Given the description of an element on the screen output the (x, y) to click on. 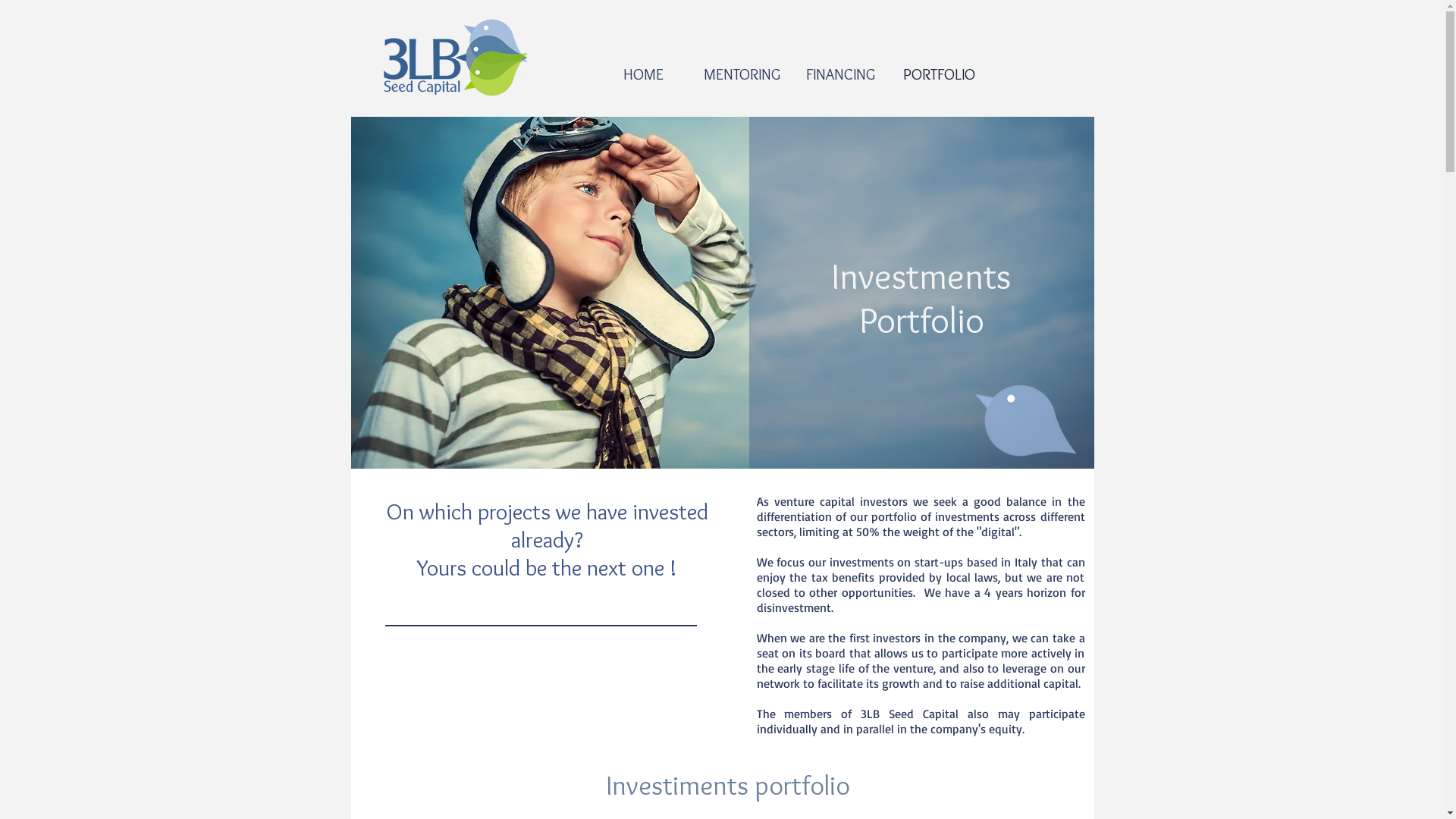
MENTORING Element type: text (742, 74)
Pilot007.jpg Element type: hover (721, 292)
FINANCING Element type: text (840, 74)
HOME Element type: text (643, 74)
PORTFOLIO Element type: text (939, 74)
